Given the description of an element on the screen output the (x, y) to click on. 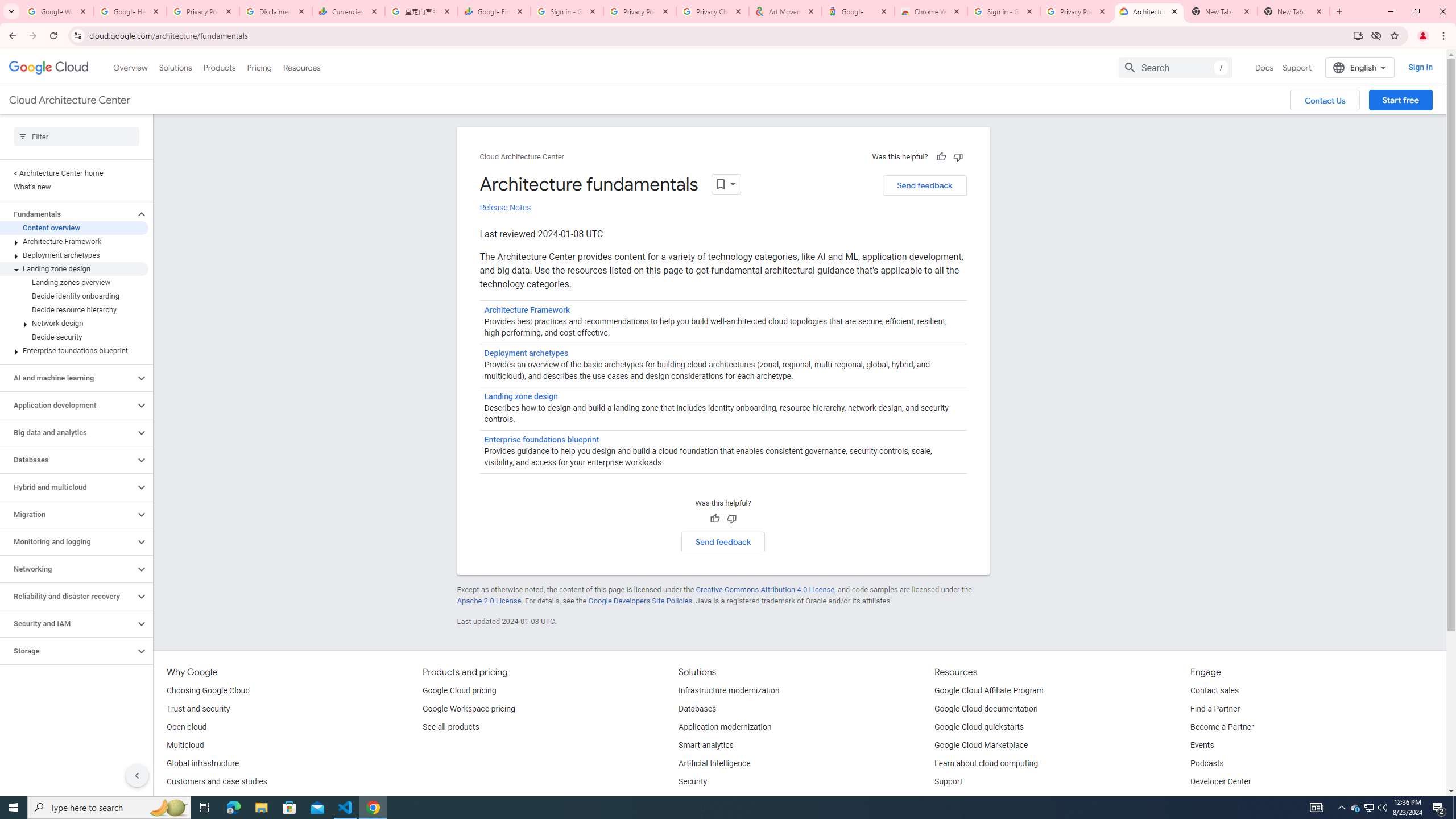
Productivity & work transformation (739, 800)
Learn about cloud computing (986, 764)
Google Cloud Affiliate Program (988, 691)
Content overview (74, 228)
Pricing (259, 67)
Contact sales (1215, 691)
Architecture Framework (74, 241)
Google Workspace pricing (468, 709)
Hybrid and multicloud (67, 486)
Hide side navigation (136, 775)
Decide security (74, 336)
Become a Partner (1222, 727)
